Given the description of an element on the screen output the (x, y) to click on. 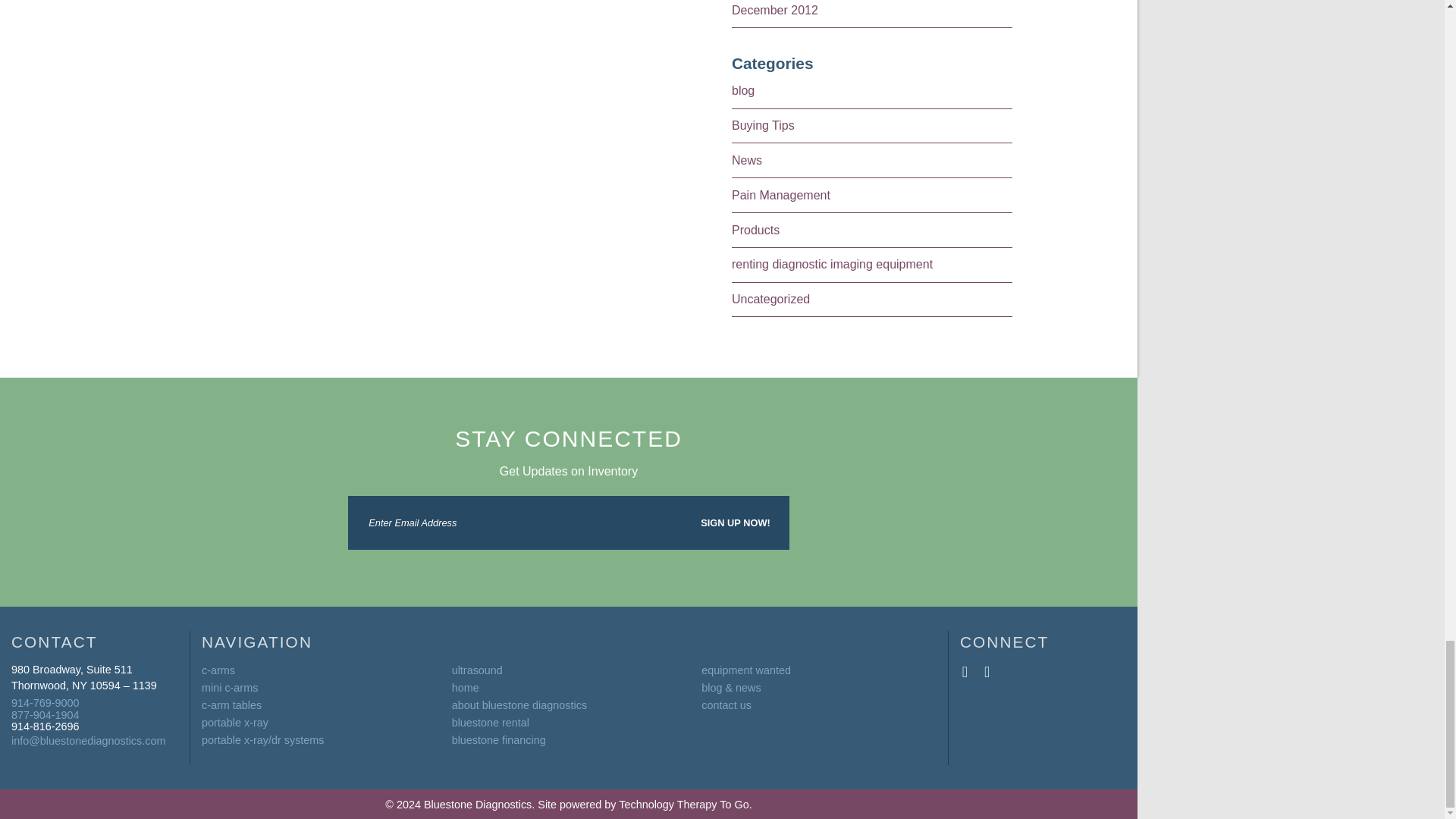
Sign Up Now! (735, 522)
